Given the description of an element on the screen output the (x, y) to click on. 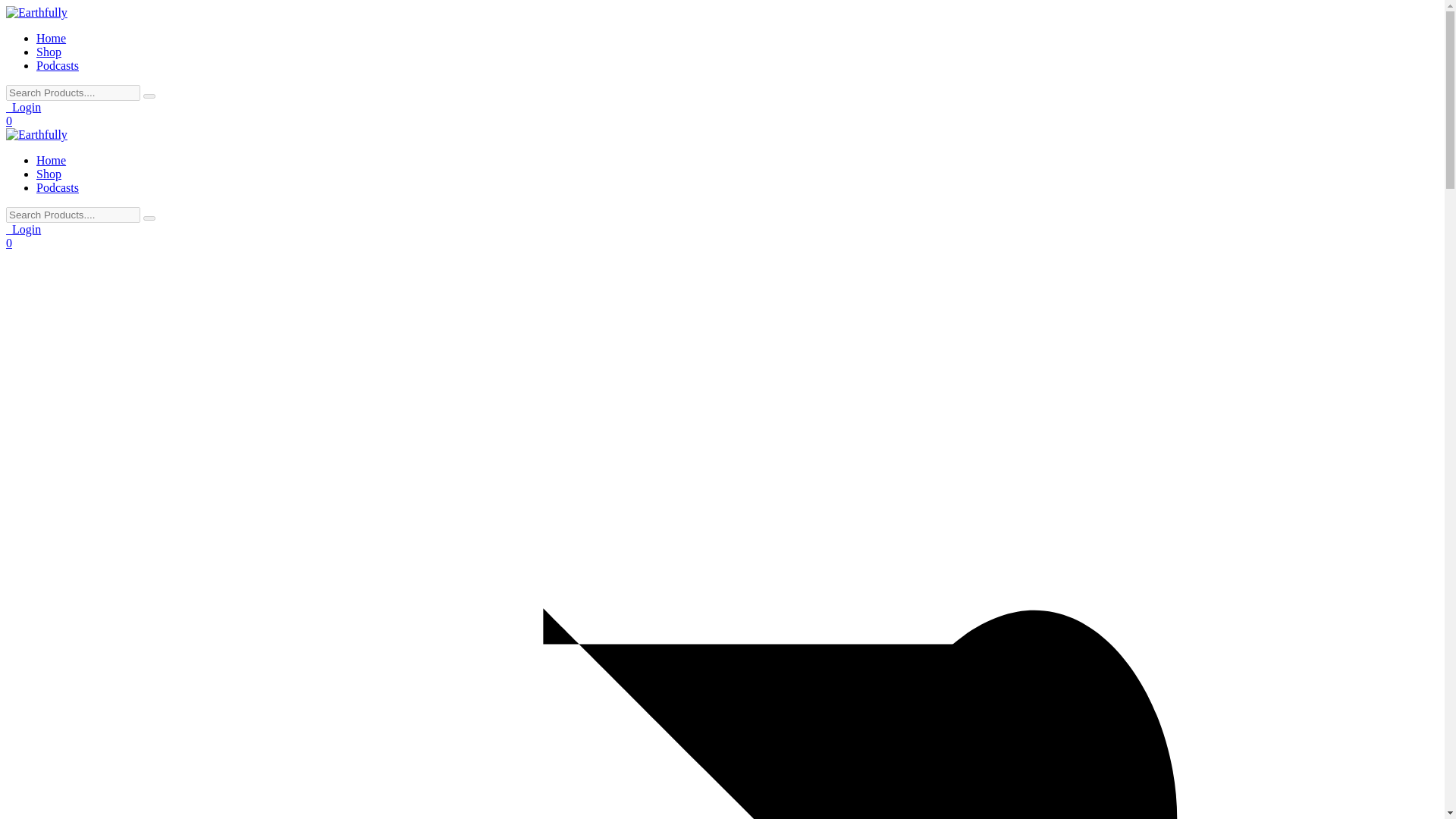
Podcasts (57, 65)
Home (50, 38)
Home (50, 160)
  Login (22, 228)
Shop (48, 173)
Shop (48, 51)
Podcasts (57, 187)
  Login (22, 106)
